Given the description of an element on the screen output the (x, y) to click on. 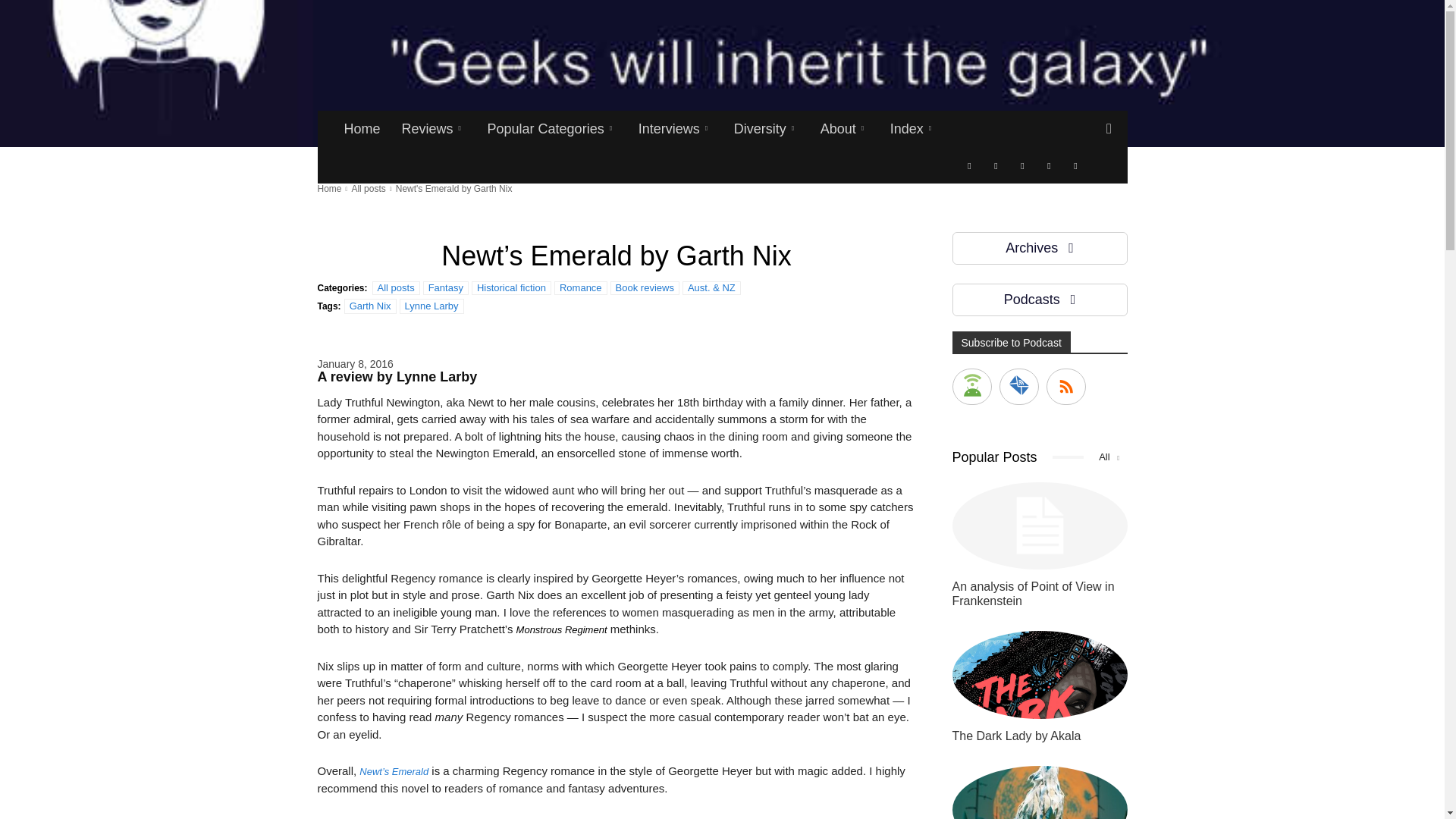
View all posts in All posts (367, 188)
